Given the description of an element on the screen output the (x, y) to click on. 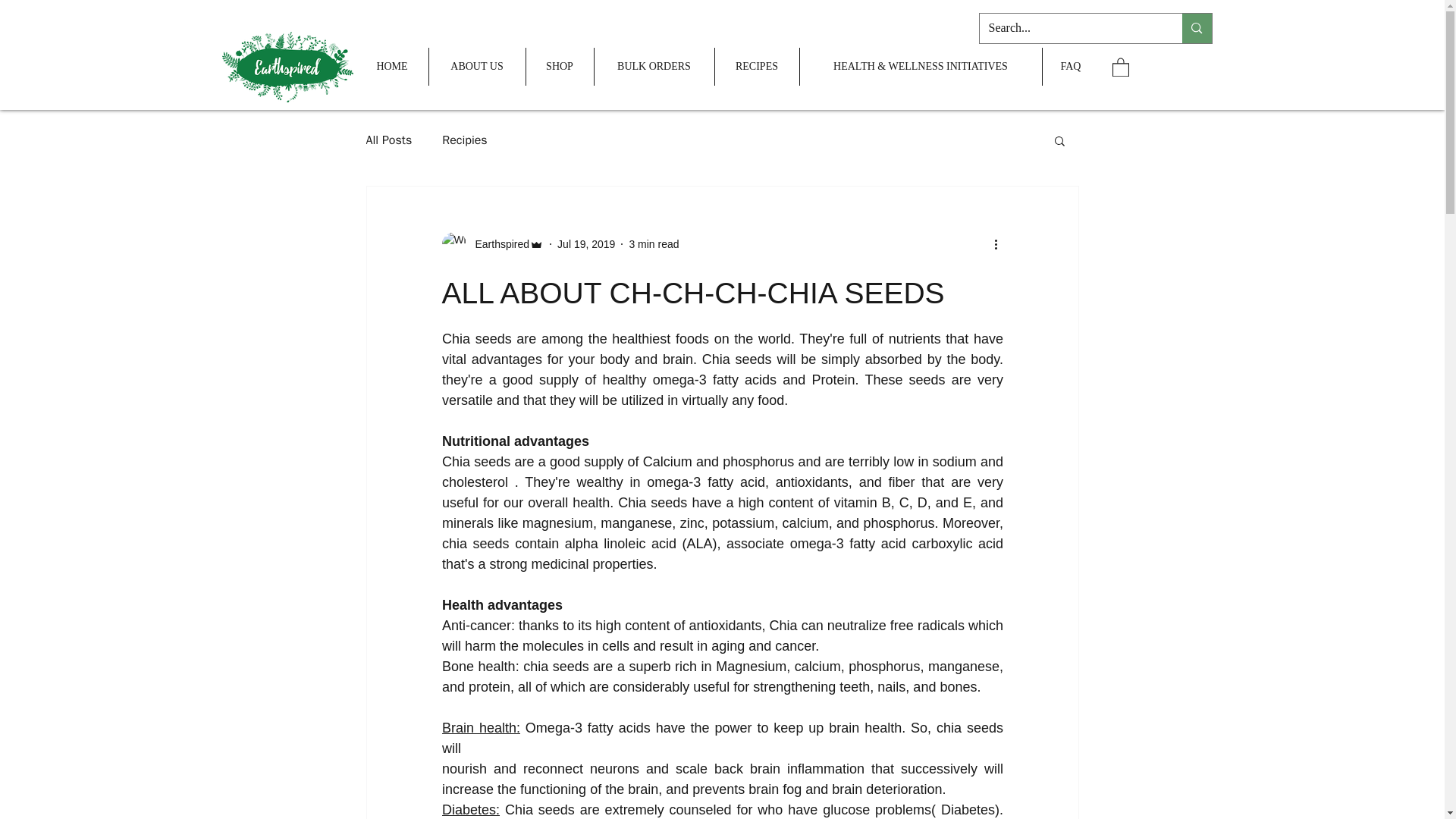
SHOP (559, 66)
All Posts (388, 140)
FAQ (1070, 66)
Jul 19, 2019 (585, 244)
HOME (392, 66)
Recipies (464, 140)
3 min read (653, 244)
Earthspired (497, 244)
RECIPES (755, 66)
Earthspired (492, 243)
BULK ORDERS (654, 66)
ABOUT US (477, 66)
